Given the description of an element on the screen output the (x, y) to click on. 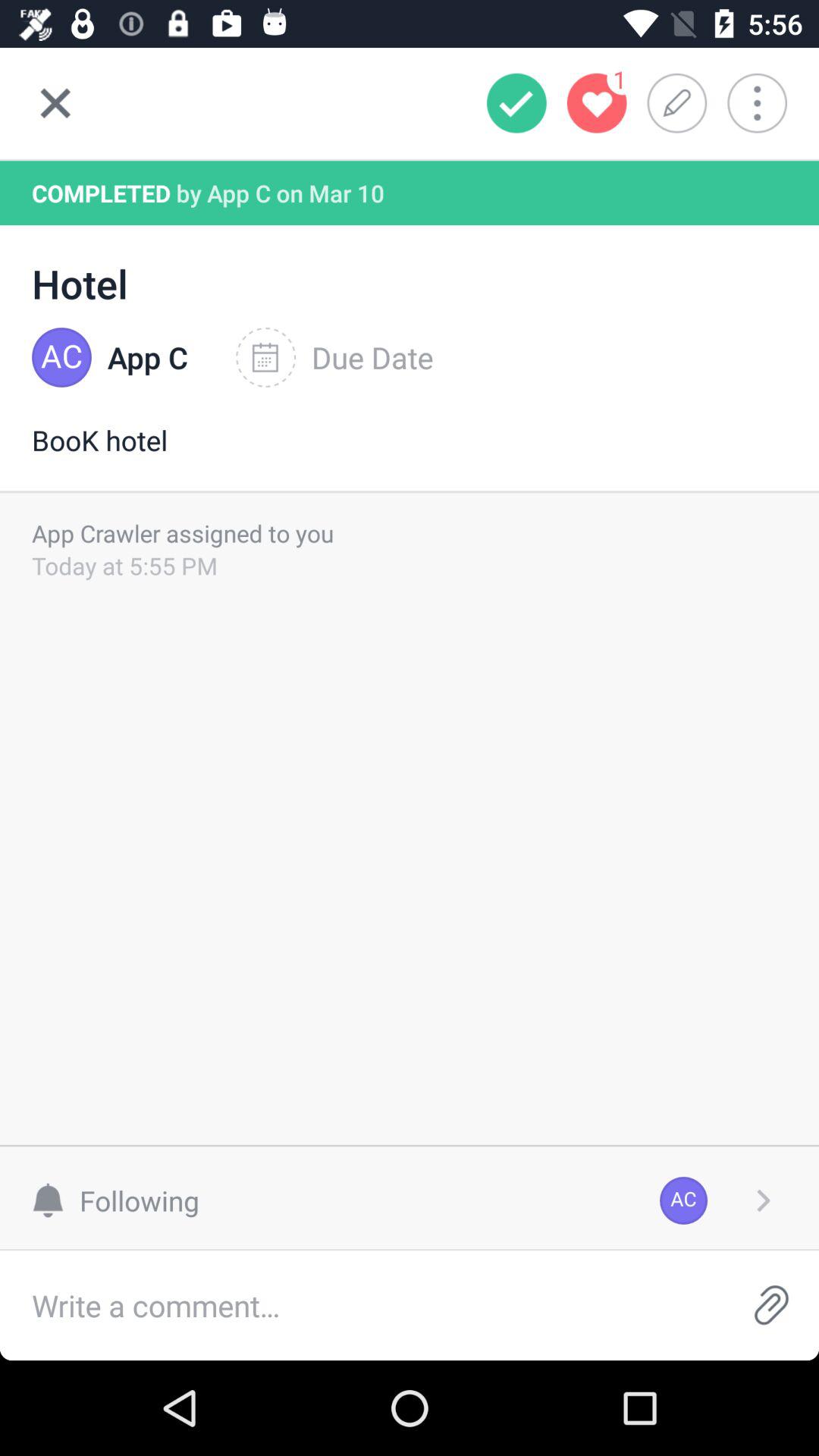
edit to-do (682, 103)
